Given the description of an element on the screen output the (x, y) to click on. 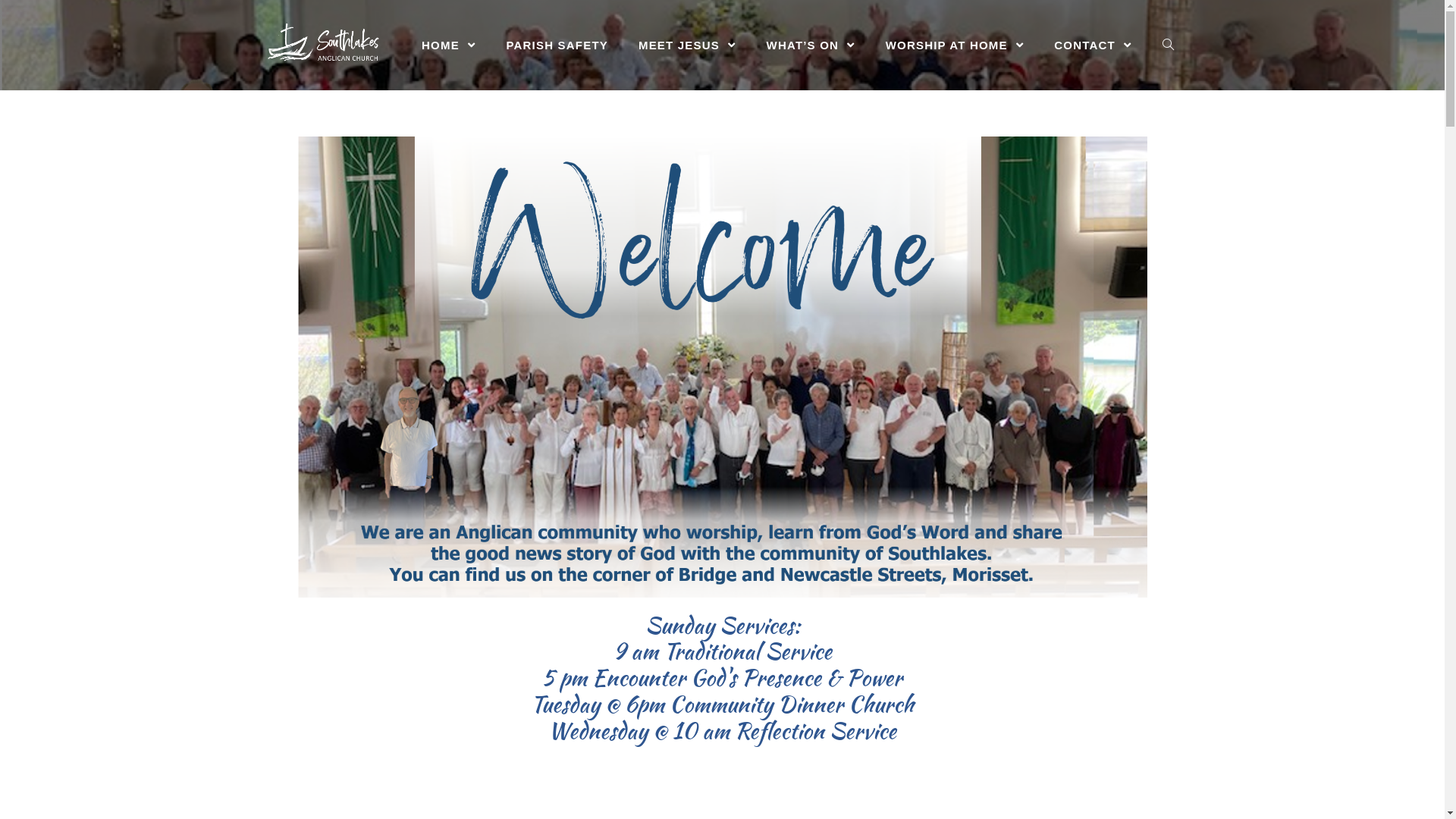
CONTACT Element type: text (1092, 45)
PARISH SAFETY Element type: text (556, 45)
HOME Element type: text (448, 45)
MEET JESUS Element type: text (687, 45)
WORSHIP AT HOME Element type: text (954, 45)
